Given the description of an element on the screen output the (x, y) to click on. 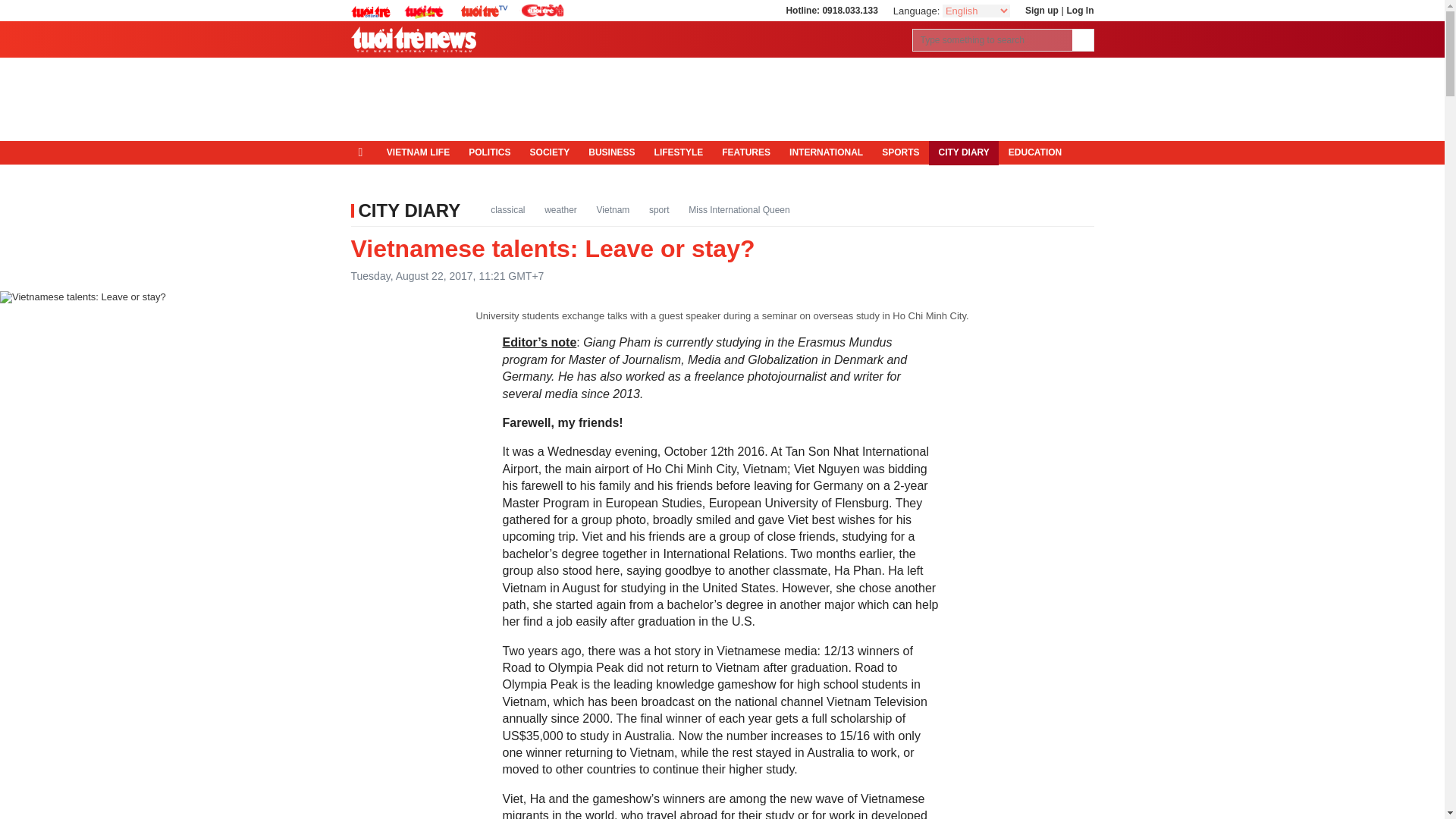
FEATURES (746, 152)
SOCIETY (549, 152)
VIETNAM LIFE (417, 152)
Miss International Queen (738, 209)
Sports (900, 152)
LIFESTYLE (679, 152)
Sign up (1041, 9)
Society (549, 152)
Vietname Life (417, 152)
Lifestyle (679, 152)
sport (659, 209)
EDUCATION (1034, 152)
CITY DIARY (409, 209)
POLITICS (489, 152)
CITY DIARY (963, 152)
